Given the description of an element on the screen output the (x, y) to click on. 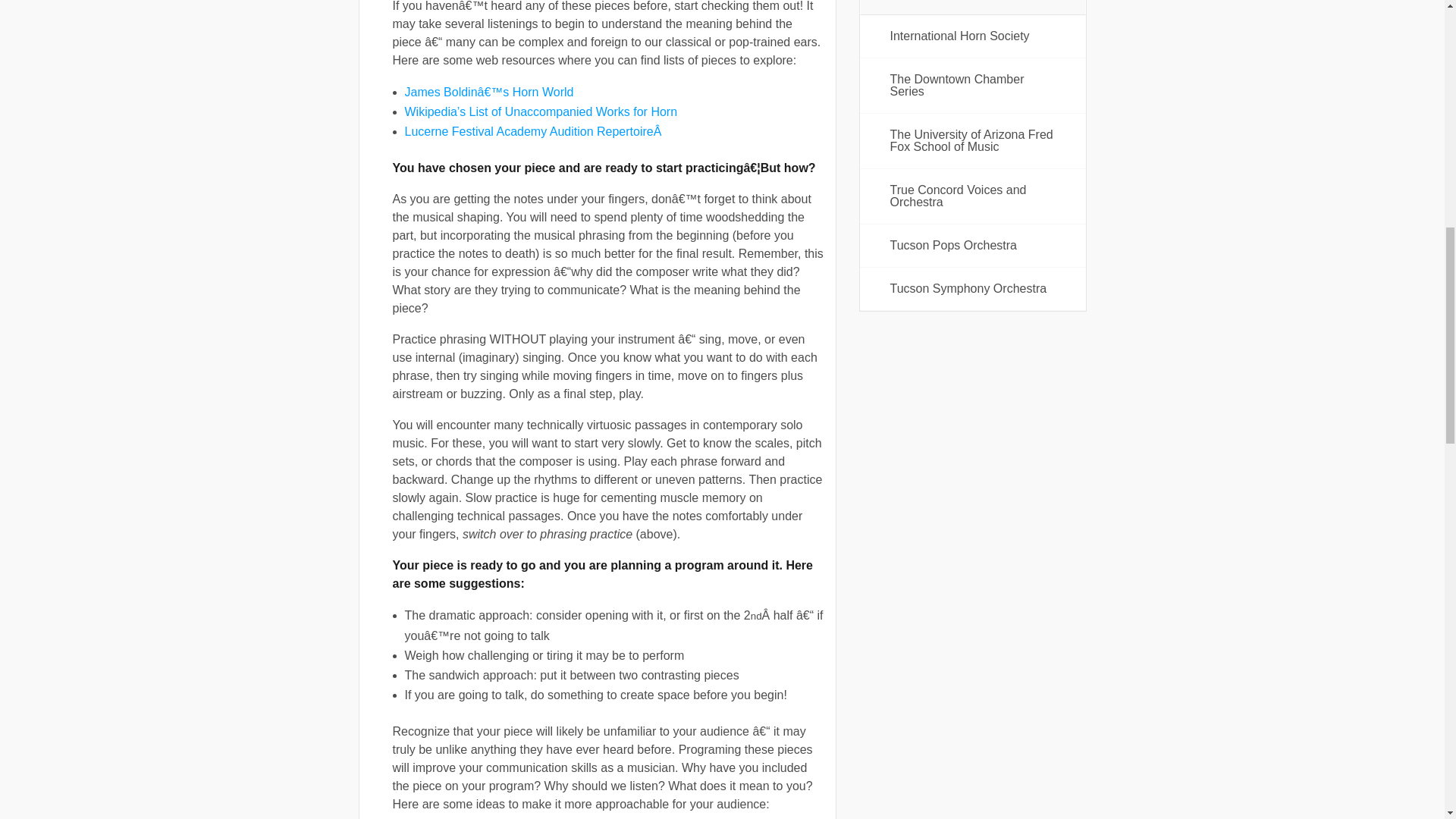
Tucson Symphony Orchestra (973, 288)
True Concord Voices and Orchestra (973, 195)
The Downtown Chamber Series (973, 85)
Tucson Pops Orchestra (973, 245)
International Horn Society (973, 36)
Fred Fox School of Music (973, 140)
The University of Arizona Fred Fox School of Music (973, 140)
International Horn Society (973, 36)
